Given the description of an element on the screen output the (x, y) to click on. 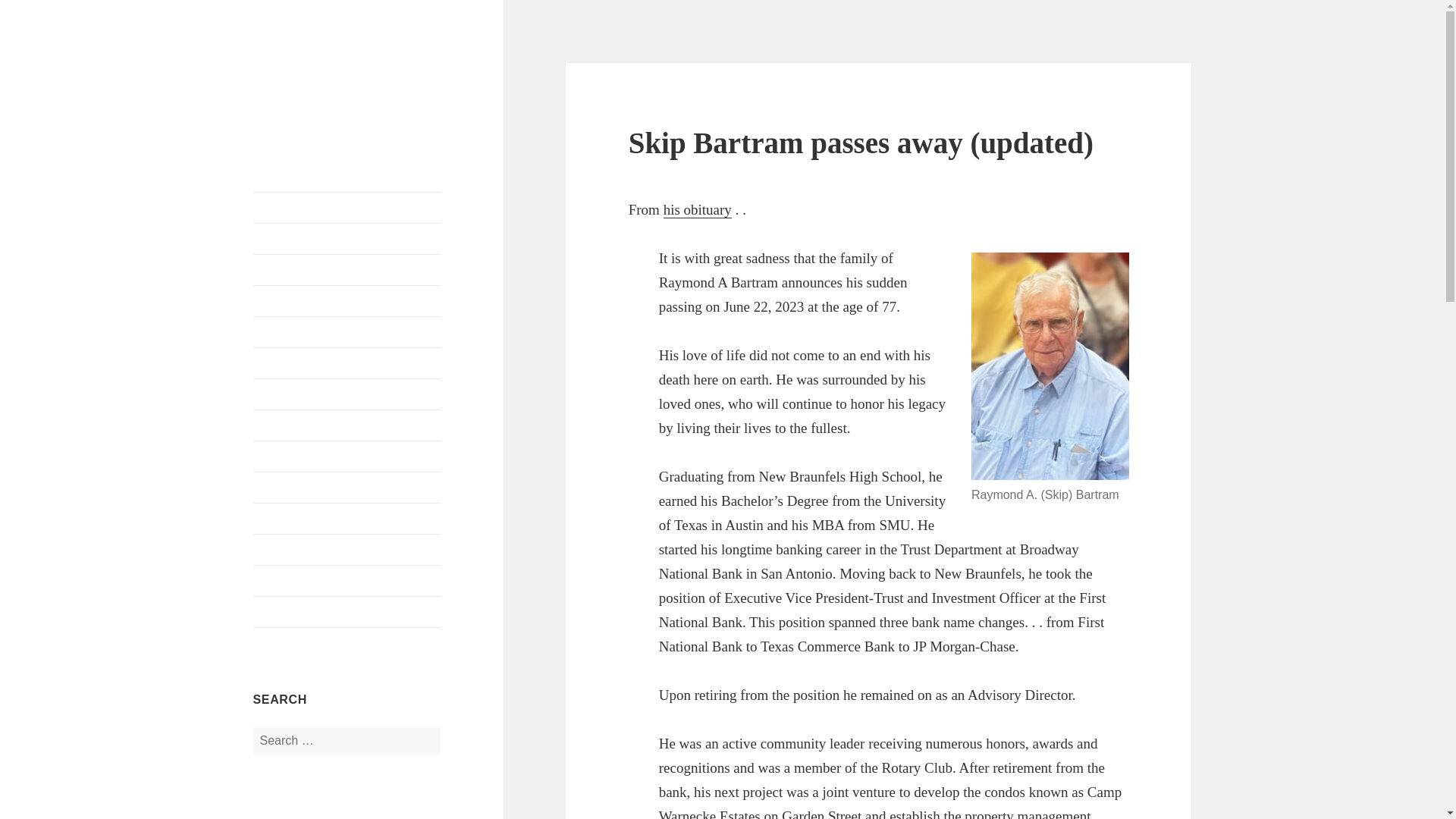
North Fork Patrol (347, 549)
NFLA Calendar (347, 238)
Join the NFLA (347, 300)
Newsletters (347, 580)
Welcome and Sunshine Committees (347, 363)
NFLA (280, 74)
Fire Mitigation Committee (347, 394)
Sondreson Community Hall (347, 518)
Weeds Committee (347, 487)
About the NFLA (347, 269)
North Fork Zoning Regulations (347, 612)
North Fork History Project (347, 425)
